Given the description of an element on the screen output the (x, y) to click on. 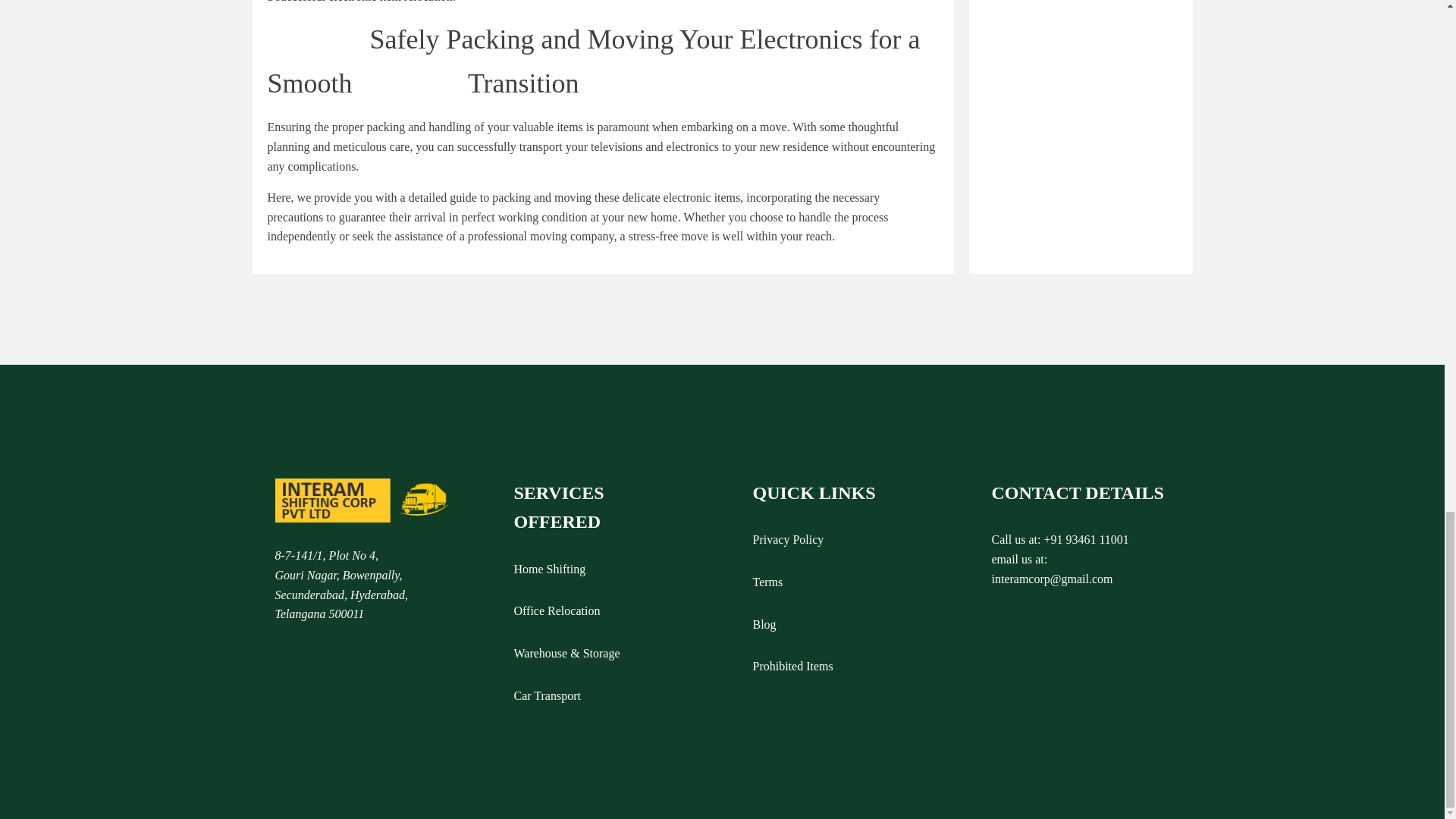
Home Shifting (549, 569)
Office Relocation (556, 610)
Privacy Policy (788, 539)
Car Transport (546, 695)
Terms (767, 582)
